Given the description of an element on the screen output the (x, y) to click on. 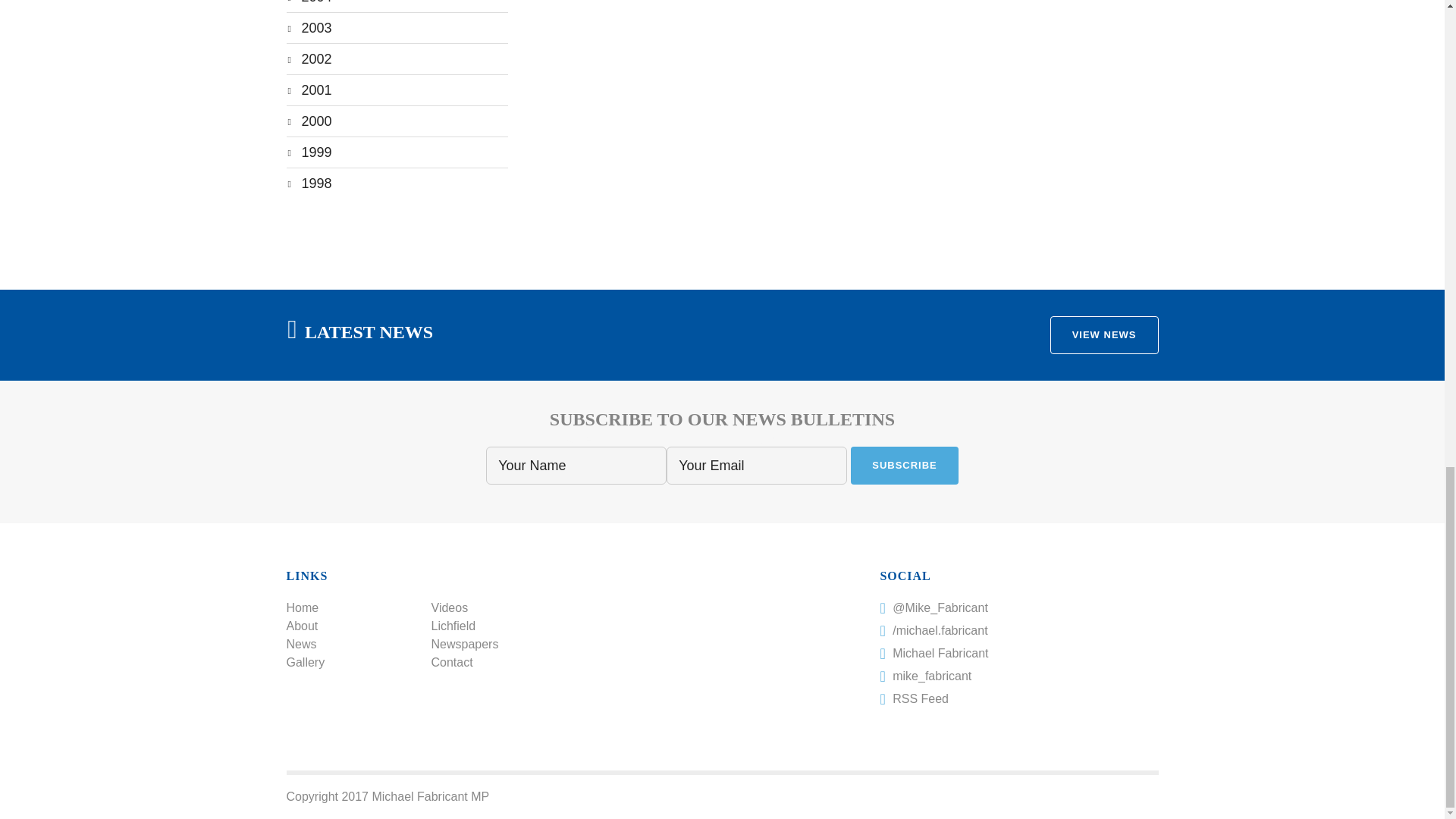
Subscribe (904, 465)
